Given the description of an element on the screen output the (x, y) to click on. 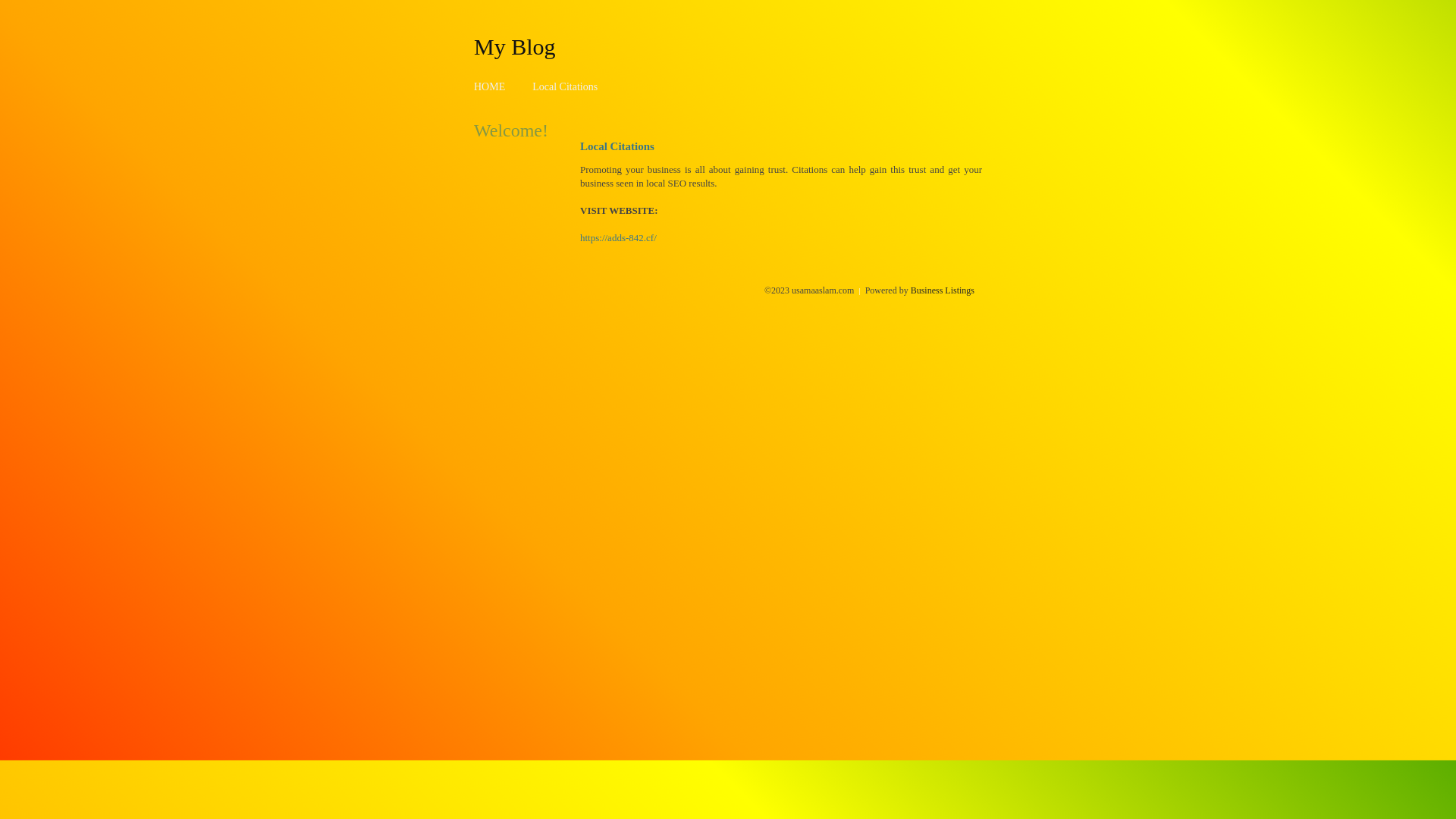
https://adds-842.cf/ Element type: text (618, 237)
HOME Element type: text (489, 86)
Local Citations Element type: text (564, 86)
My Blog Element type: text (514, 46)
Business Listings Element type: text (942, 290)
